Given the description of an element on the screen output the (x, y) to click on. 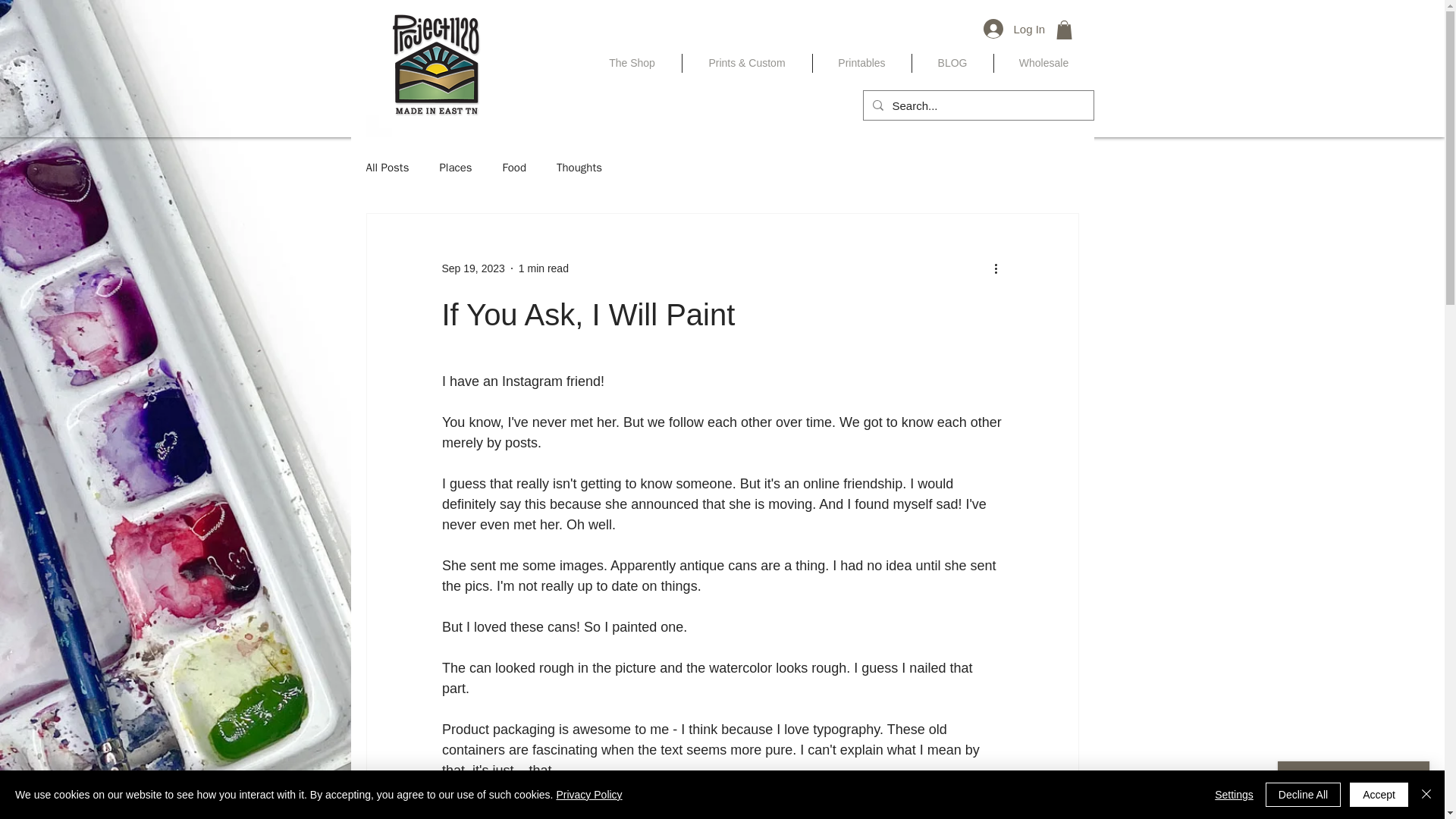
Log In (1010, 28)
Thoughts (579, 167)
Printables (860, 63)
Food (513, 167)
Places (455, 167)
1 min read (543, 268)
Buy More Art (435, 62)
BLOG (951, 63)
Wholesale (1043, 63)
Sep 19, 2023 (472, 268)
